Given the description of an element on the screen output the (x, y) to click on. 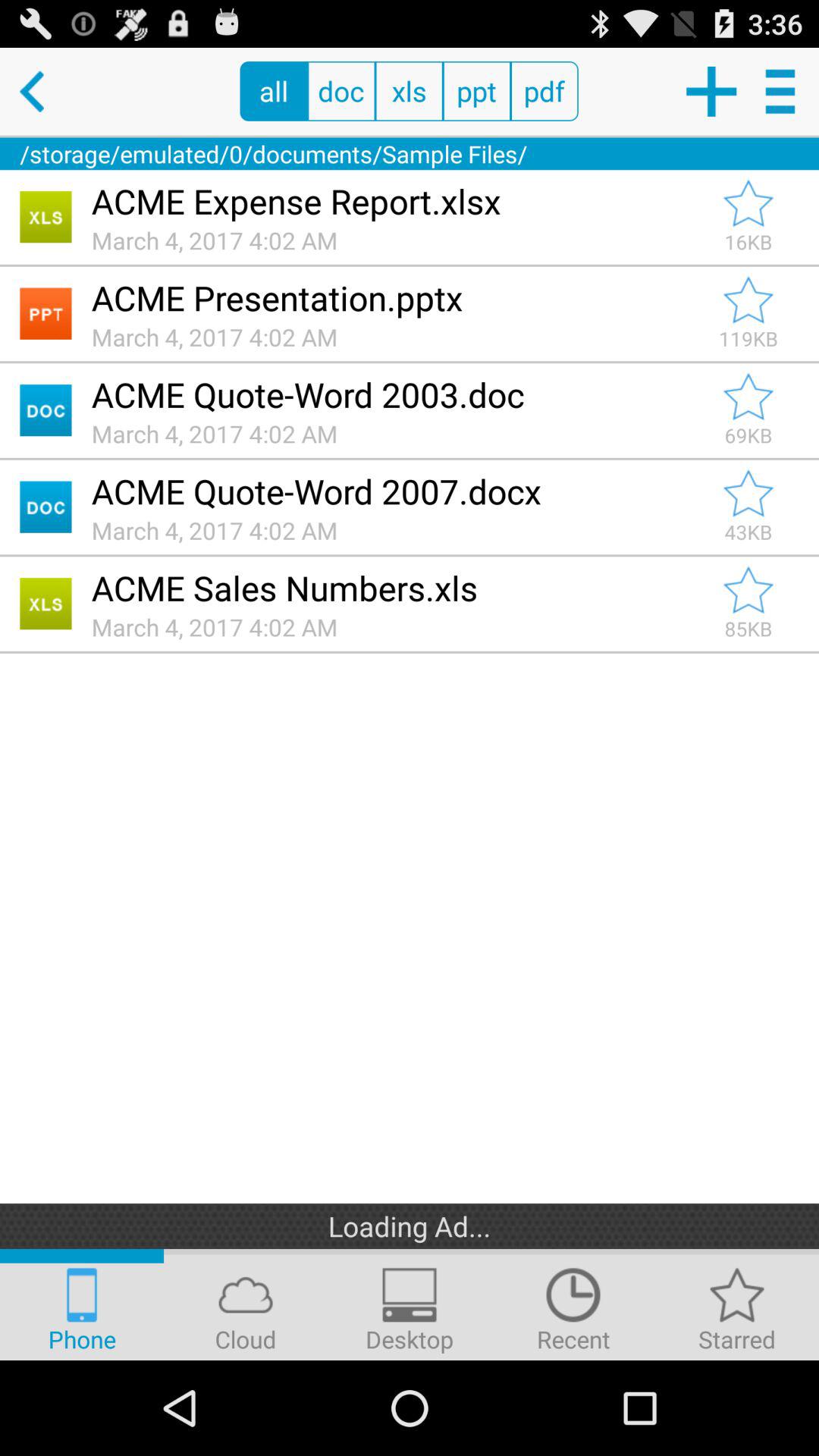
launch the item next to pdf icon (476, 91)
